Given the description of an element on the screen output the (x, y) to click on. 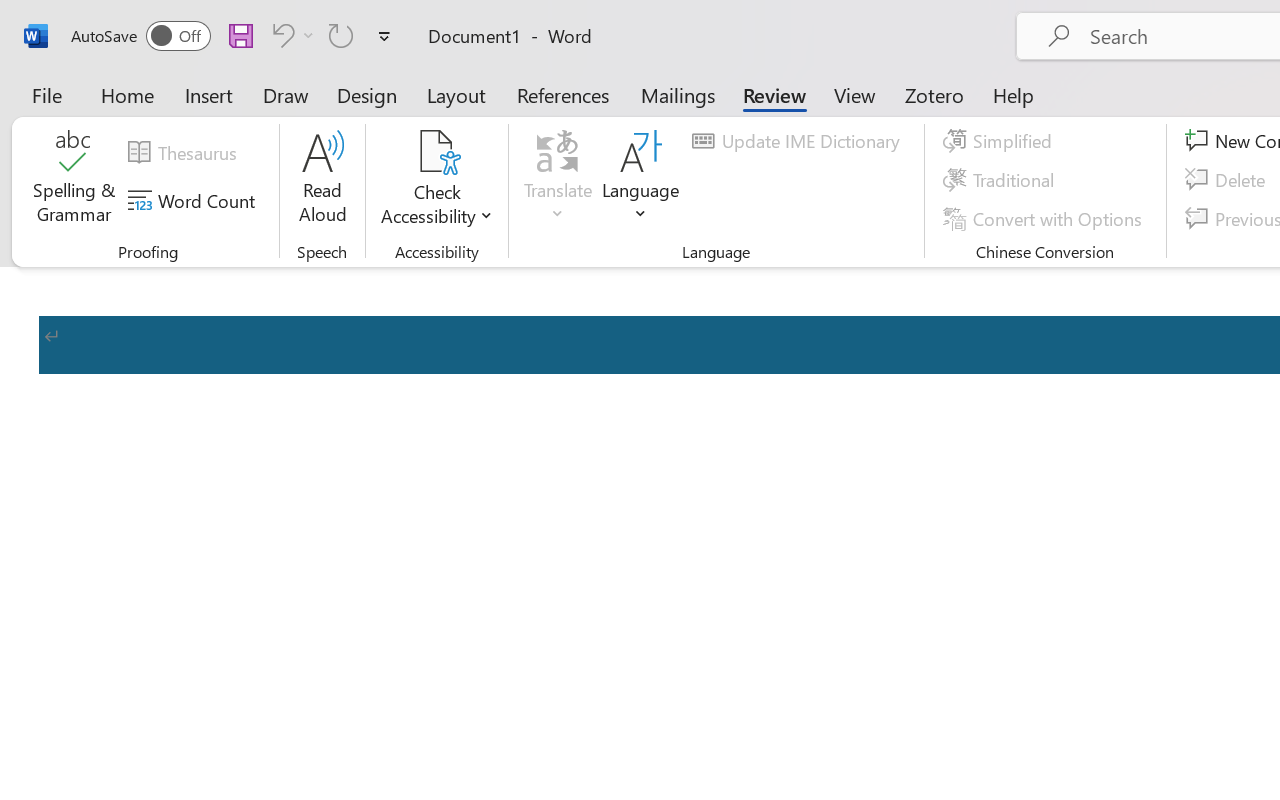
Delete (1227, 179)
Update IME Dictionary... (799, 141)
Word Count (194, 201)
Undo Apply Quick Style Set (290, 35)
Read Aloud (322, 179)
Translate (558, 179)
